Given the description of an element on the screen output the (x, y) to click on. 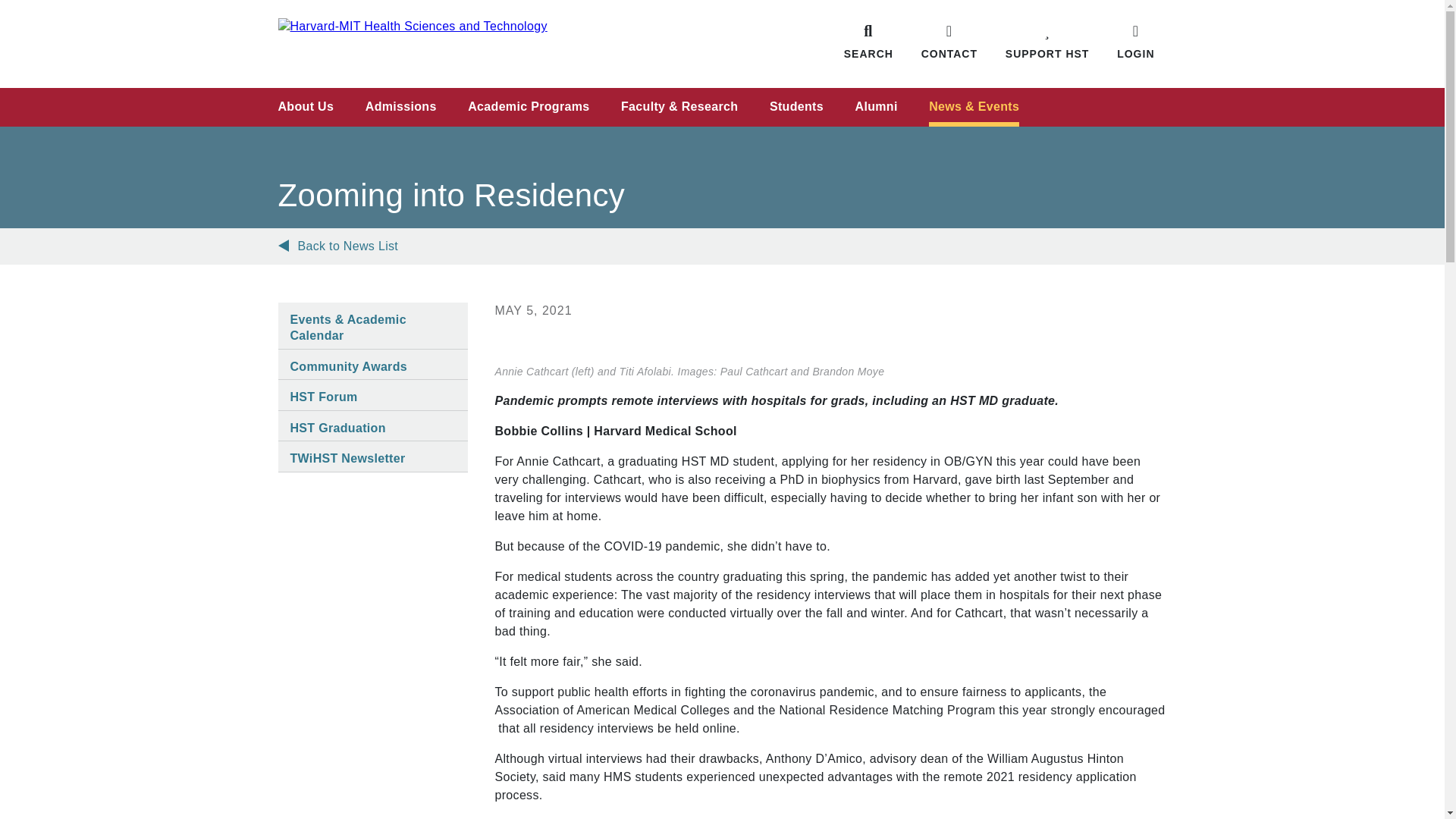
HST Forum (322, 396)
Alumni (877, 106)
LOGIN (1135, 41)
Academic Programs (528, 106)
CONTACT (949, 41)
SEARCH (868, 41)
Home (500, 43)
About Us (305, 106)
Admissions (400, 106)
